Given the description of an element on the screen output the (x, y) to click on. 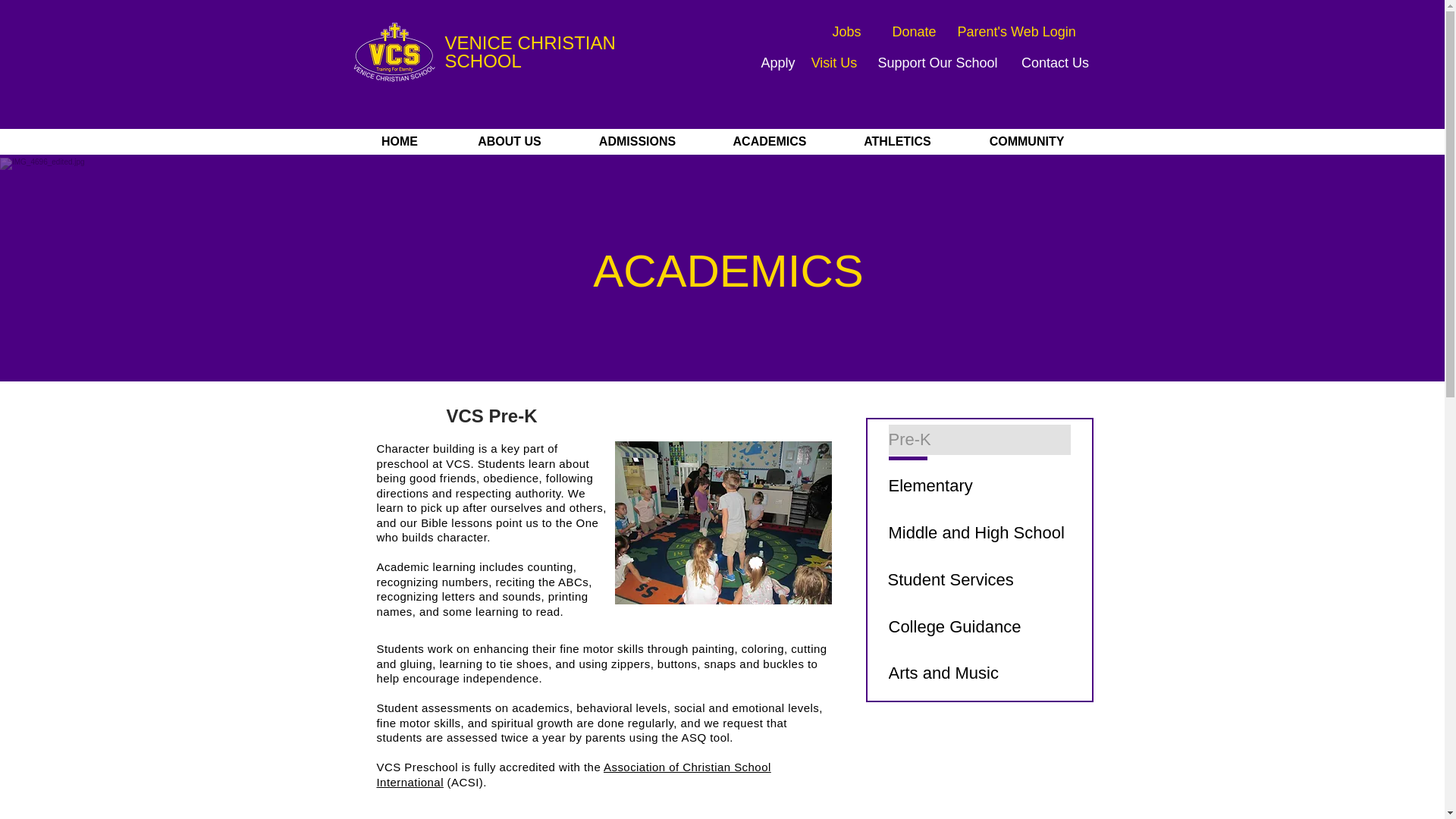
Donate (913, 31)
HOME (399, 141)
Parent's Web Login (1015, 31)
Association of Christian School International (572, 774)
Support Our School (937, 62)
College Guidance (979, 626)
Middle and High School (979, 532)
Visit Us (833, 62)
Contact Us (1055, 62)
ADMISSIONS (636, 141)
ACADEMICS (768, 141)
ABOUT US (509, 141)
Jobs (845, 31)
ATHLETICS (897, 141)
Student Services (977, 580)
